Given the description of an element on the screen output the (x, y) to click on. 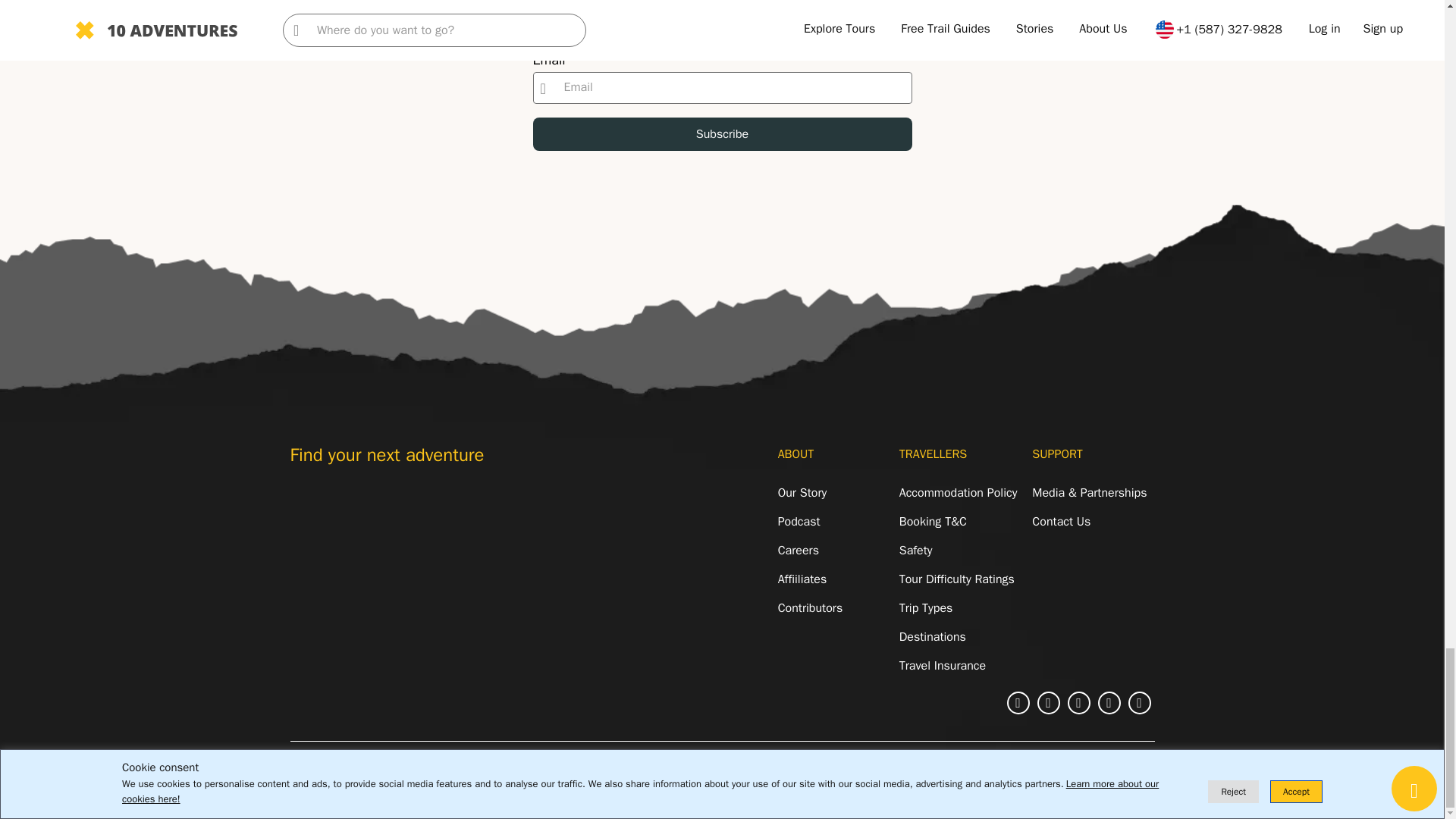
Adventure Travel Trade Association (338, 509)
